Given the description of an element on the screen output the (x, y) to click on. 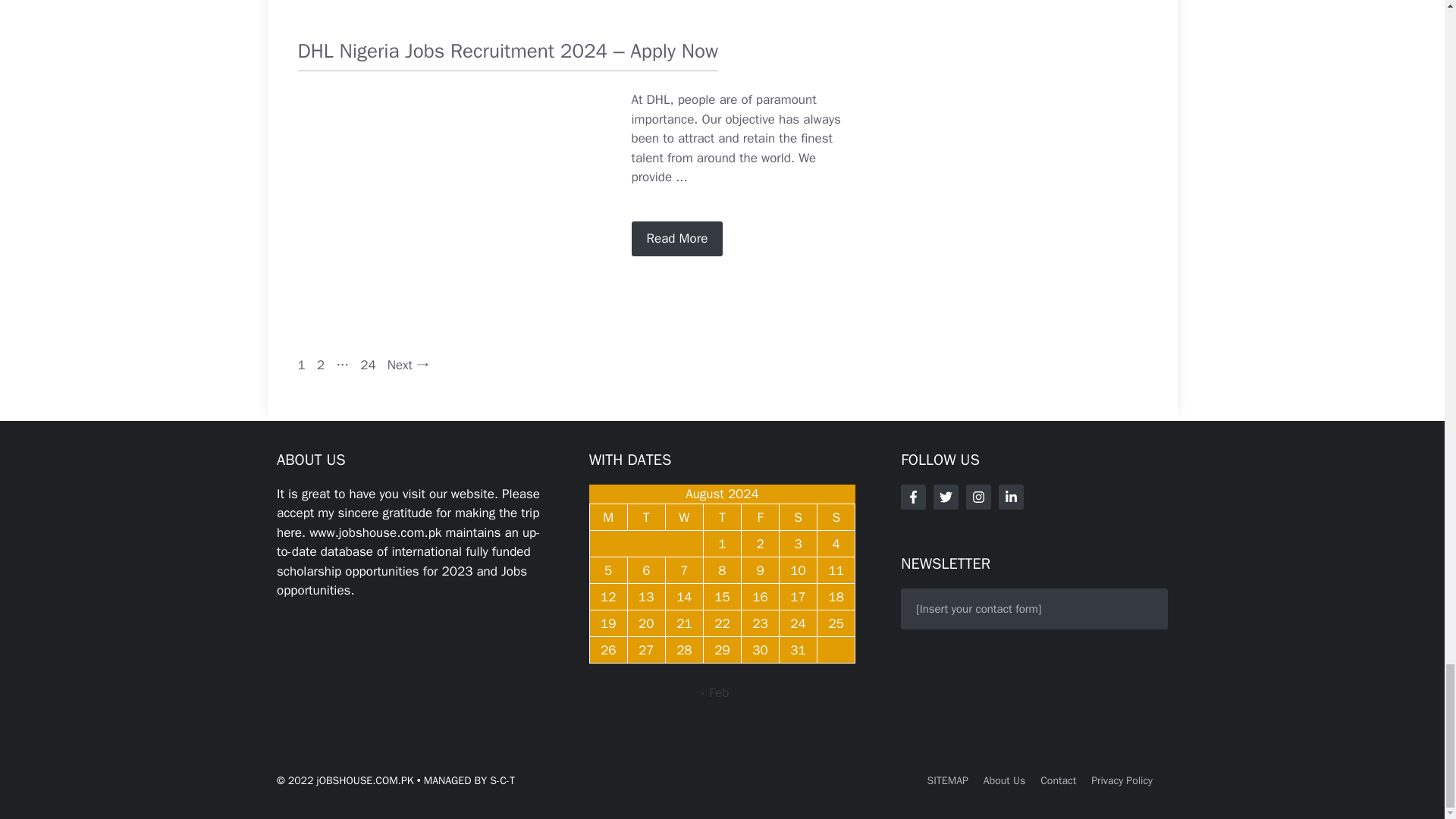
Thursday (722, 517)
Tuesday (646, 517)
Saturday (797, 517)
Sunday (836, 517)
Monday (608, 517)
Friday (759, 517)
Wednesday (684, 517)
